Given the description of an element on the screen output the (x, y) to click on. 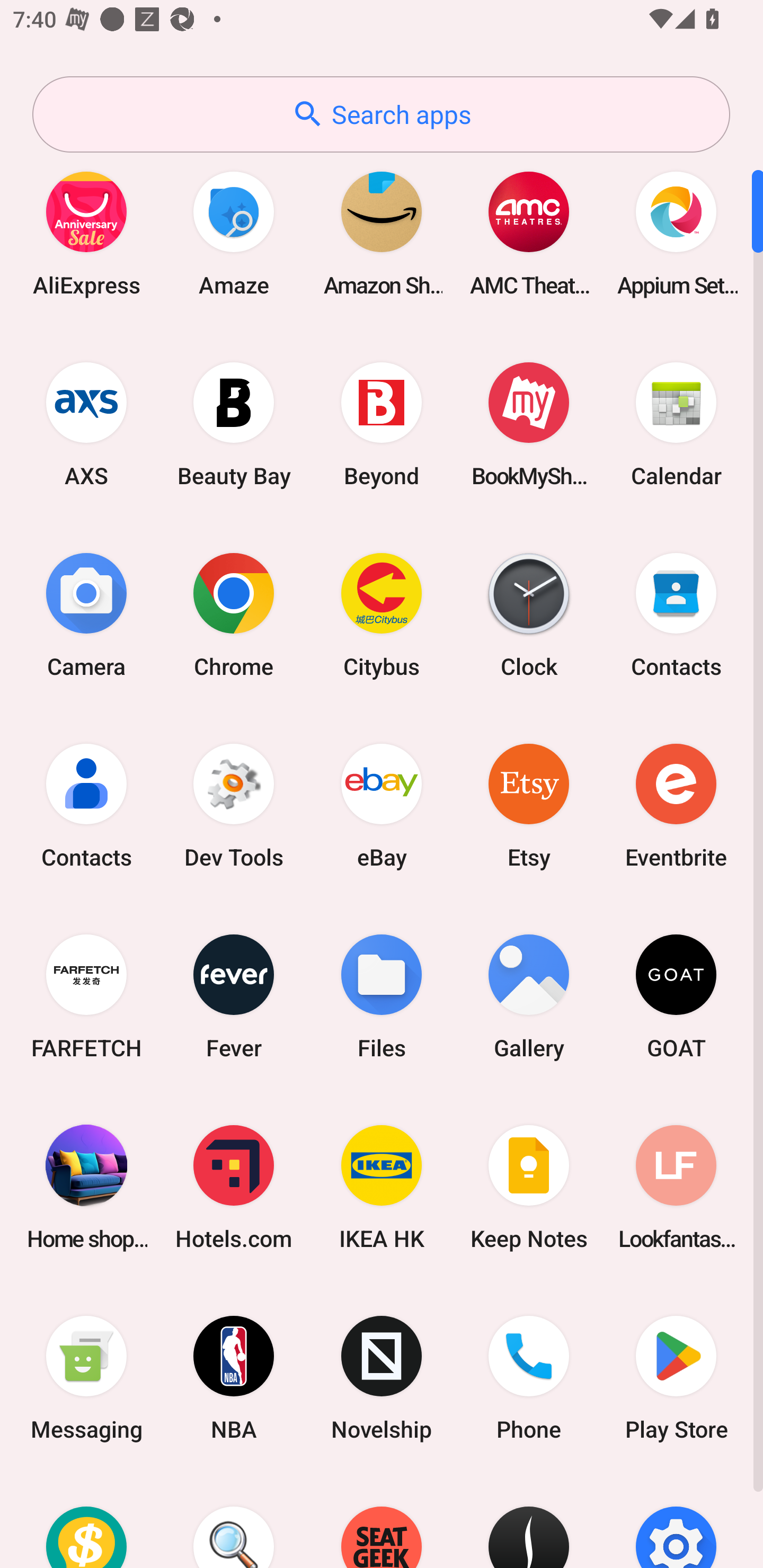
  Search apps (381, 114)
AliExpress (86, 233)
Amaze (233, 233)
Amazon Shopping (381, 233)
AMC Theatres (528, 233)
Appium Settings (676, 233)
AXS (86, 424)
Beauty Bay (233, 424)
Beyond (381, 424)
BookMyShow (528, 424)
Calendar (676, 424)
Camera (86, 614)
Chrome (233, 614)
Citybus (381, 614)
Clock (528, 614)
Contacts (676, 614)
Contacts (86, 805)
Dev Tools (233, 805)
eBay (381, 805)
Etsy (528, 805)
Eventbrite (676, 805)
FARFETCH (86, 996)
Fever (233, 996)
Files (381, 996)
Gallery (528, 996)
GOAT (676, 996)
Home shopping (86, 1186)
Hotels.com (233, 1186)
IKEA HK (381, 1186)
Keep Notes (528, 1186)
Lookfantastic (676, 1186)
Messaging (86, 1377)
NBA (233, 1377)
Novelship (381, 1377)
Phone (528, 1377)
Play Store (676, 1377)
